Given the description of an element on the screen output the (x, y) to click on. 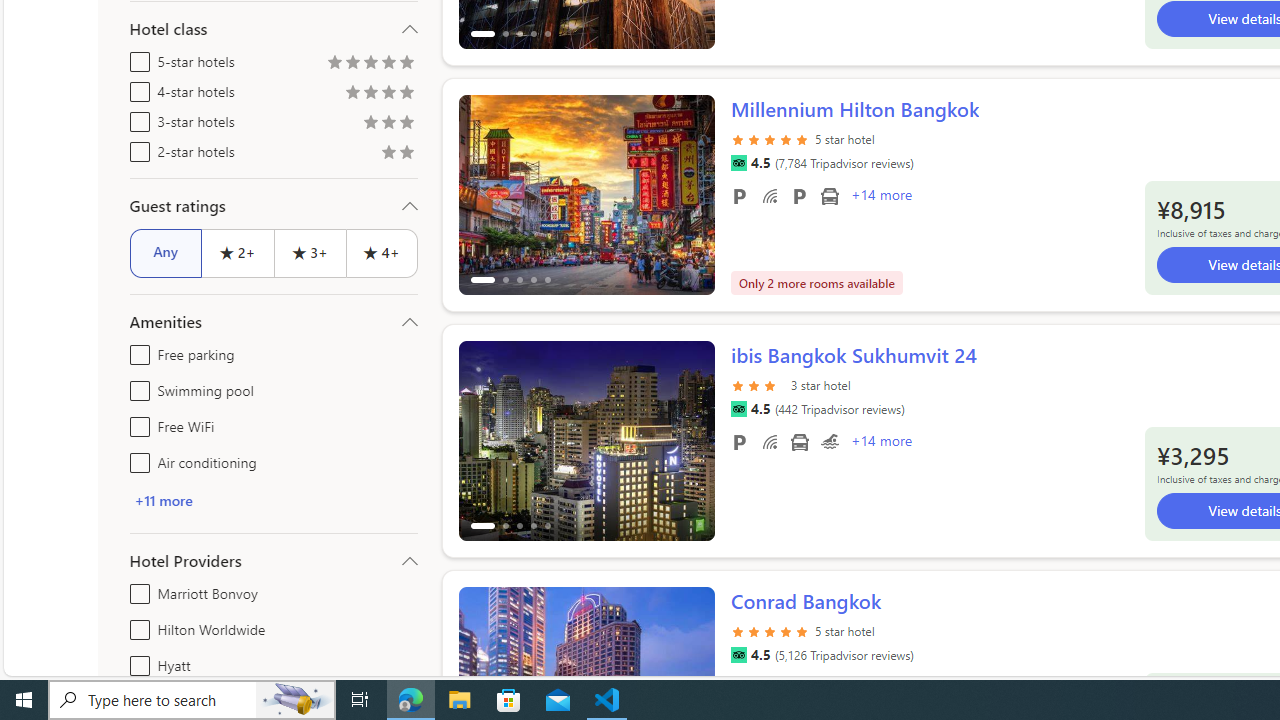
Guest ratings (273, 205)
Rating (406, 154)
